Given the description of an element on the screen output the (x, y) to click on. 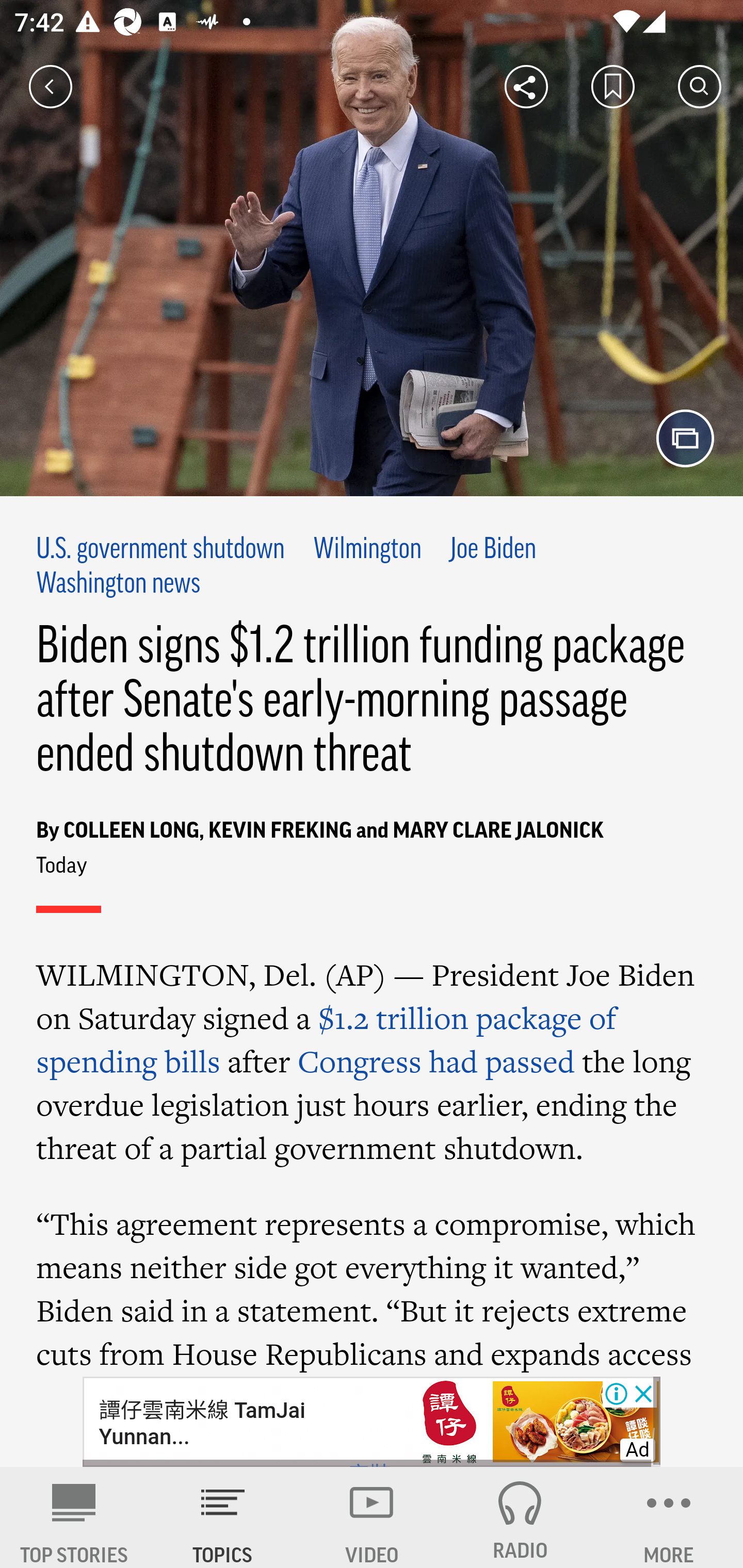
U.S. government shutdown (160, 549)
Wilmington (367, 549)
Joe Biden (493, 549)
Washington news (119, 584)
$1.2 trillion package of spending bills (326, 1038)
Congress had passed (435, 1060)
譚仔雲南米線 TamJai Yunnan... (201, 1422)
AP News TOP STORIES (74, 1517)
TOPICS (222, 1517)
VIDEO (371, 1517)
RADIO (519, 1517)
MORE (668, 1517)
